Given the description of an element on the screen output the (x, y) to click on. 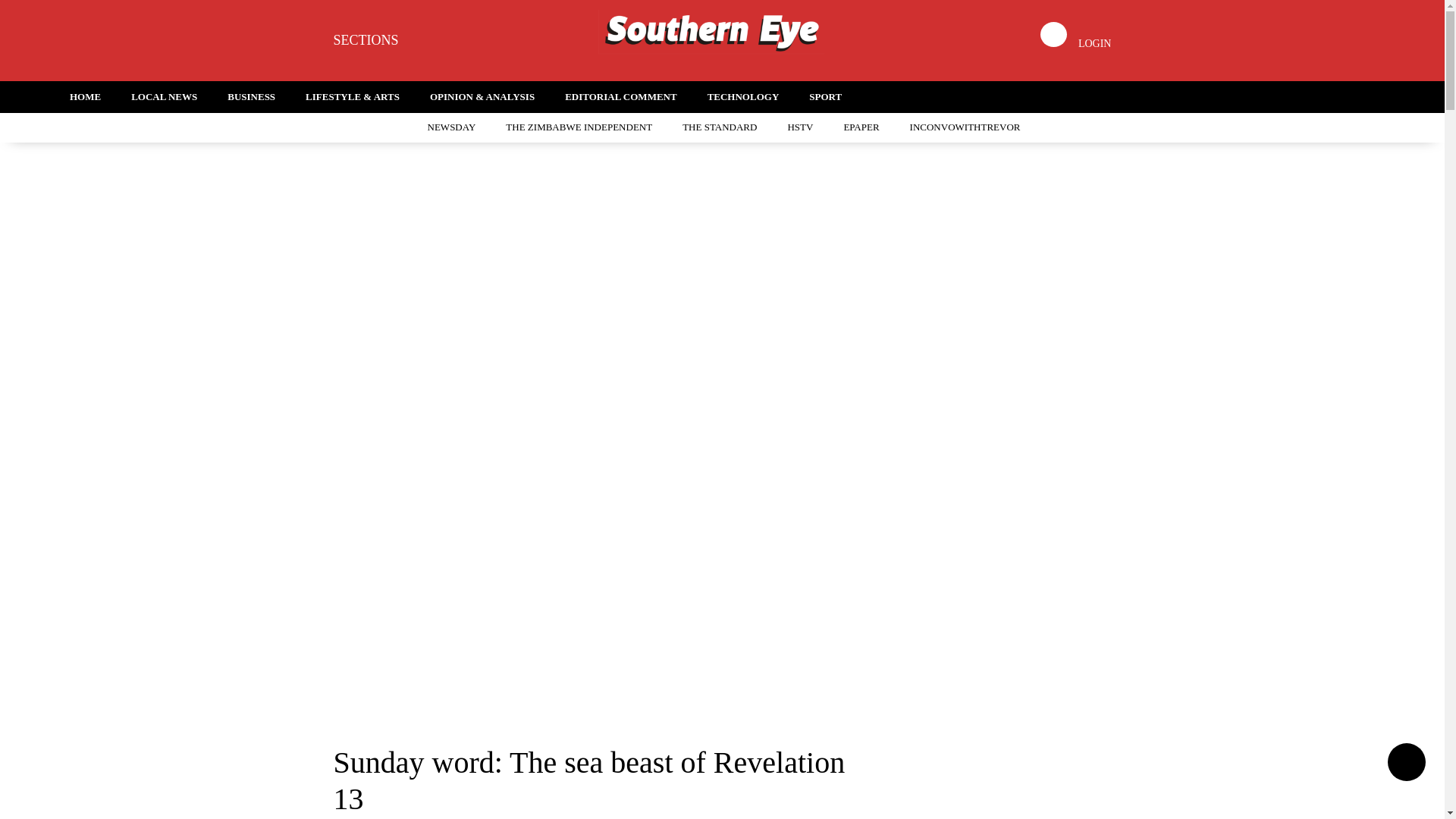
3rd party ad content (721, 676)
